Given the description of an element on the screen output the (x, y) to click on. 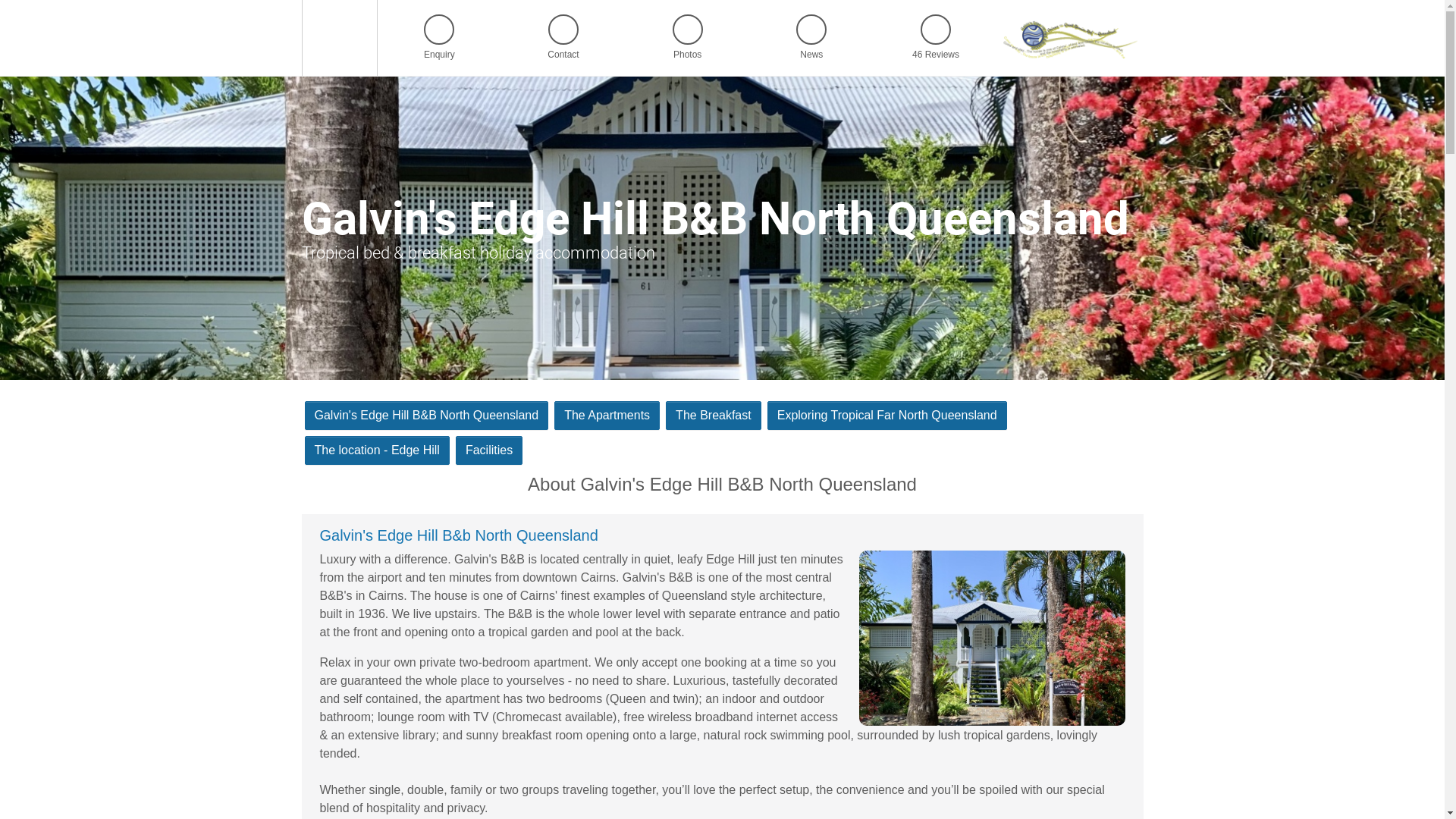
Photos Element type: text (687, 37)
Exploring Tropical Far North Queensland Element type: text (887, 415)
News Element type: text (811, 37)
Facilities Element type: text (488, 450)
The location - Edge Hill Element type: text (376, 450)
The Apartments Element type: text (606, 415)
Enquiry Element type: text (438, 37)
The Breakfast Element type: text (713, 415)
46 Reviews Element type: text (935, 37)
Contact Element type: text (563, 37)
Galvin's Edge Hill B&B North Queensland Element type: text (426, 415)
